Given the description of an element on the screen output the (x, y) to click on. 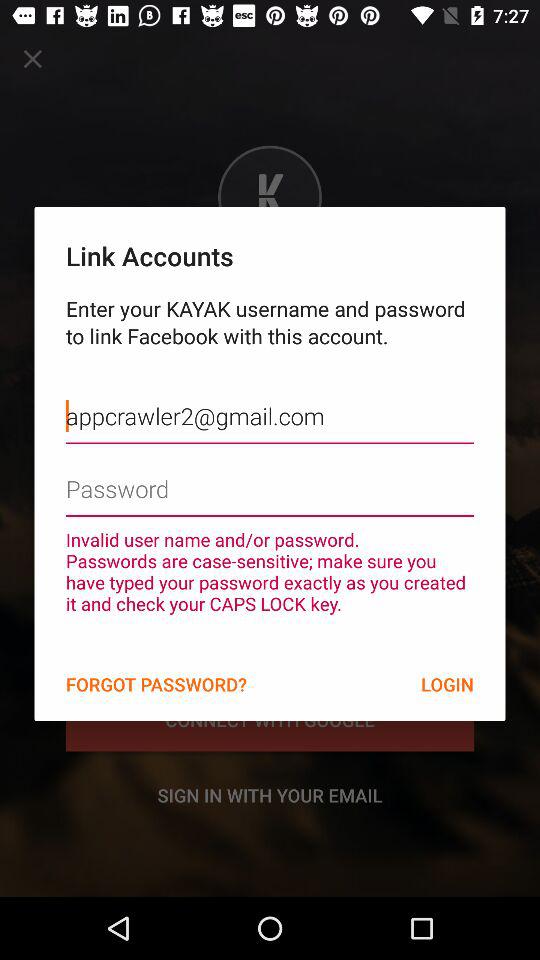
turn off the forgot password? item (156, 683)
